Given the description of an element on the screen output the (x, y) to click on. 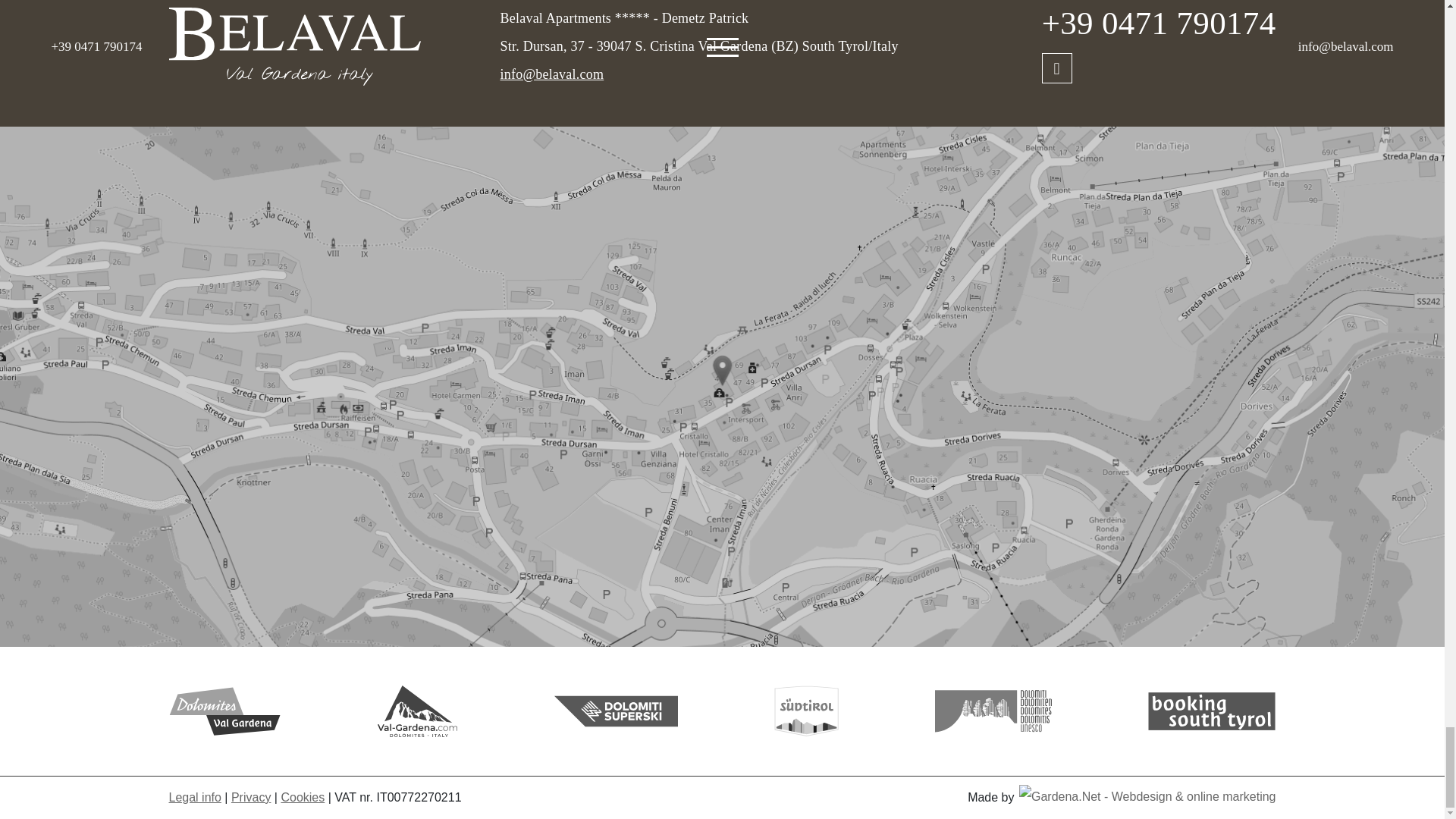
Privacy (250, 797)
Cookies (302, 797)
Legal info (194, 797)
